Given the description of an element on the screen output the (x, y) to click on. 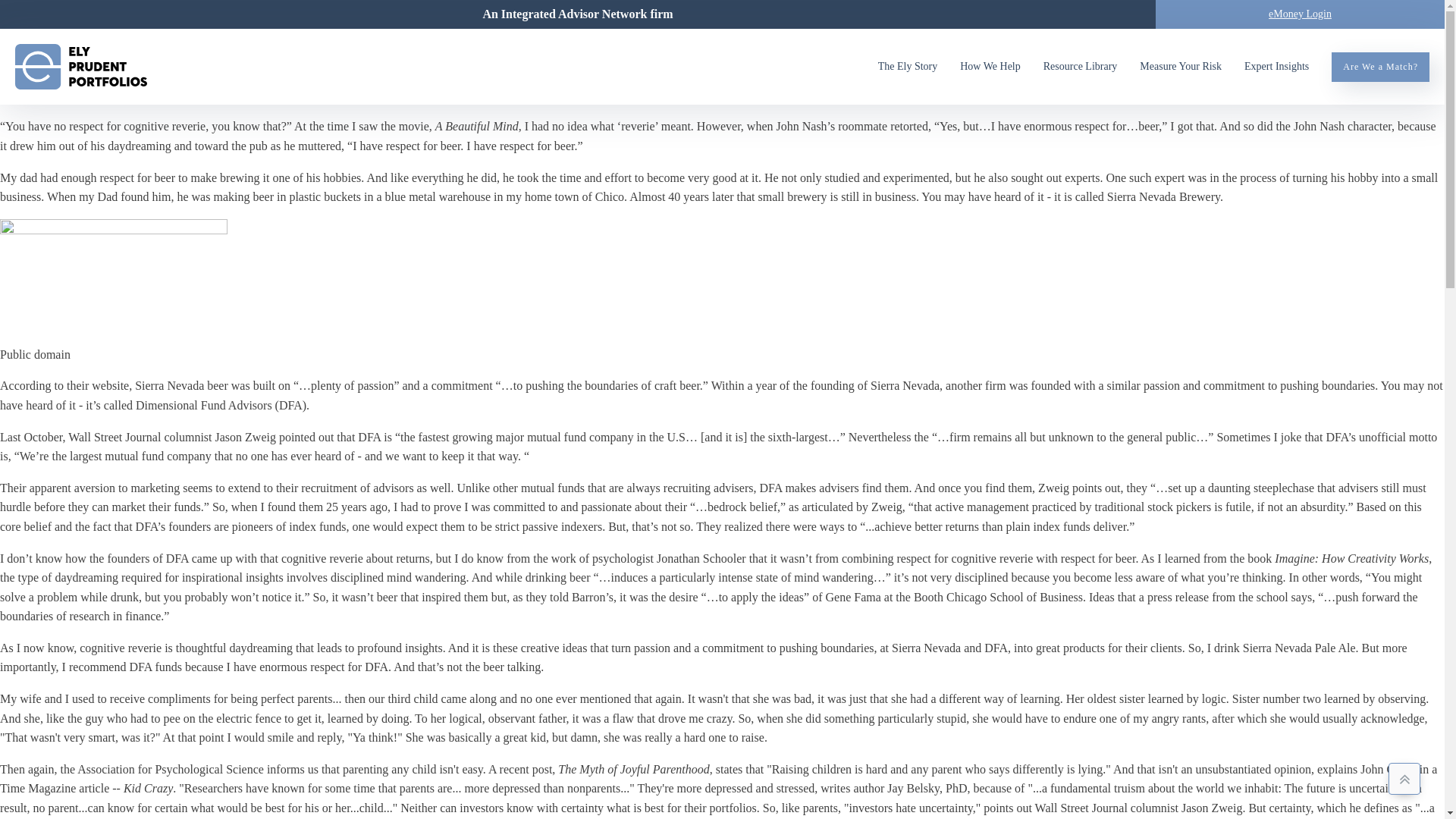
An Integrated Advisor Network firm (578, 14)
Measure Your Risk (1192, 66)
Expert Insights (1276, 66)
Are We a Match? (1380, 66)
eMoney Login (1300, 13)
